Given the description of an element on the screen output the (x, y) to click on. 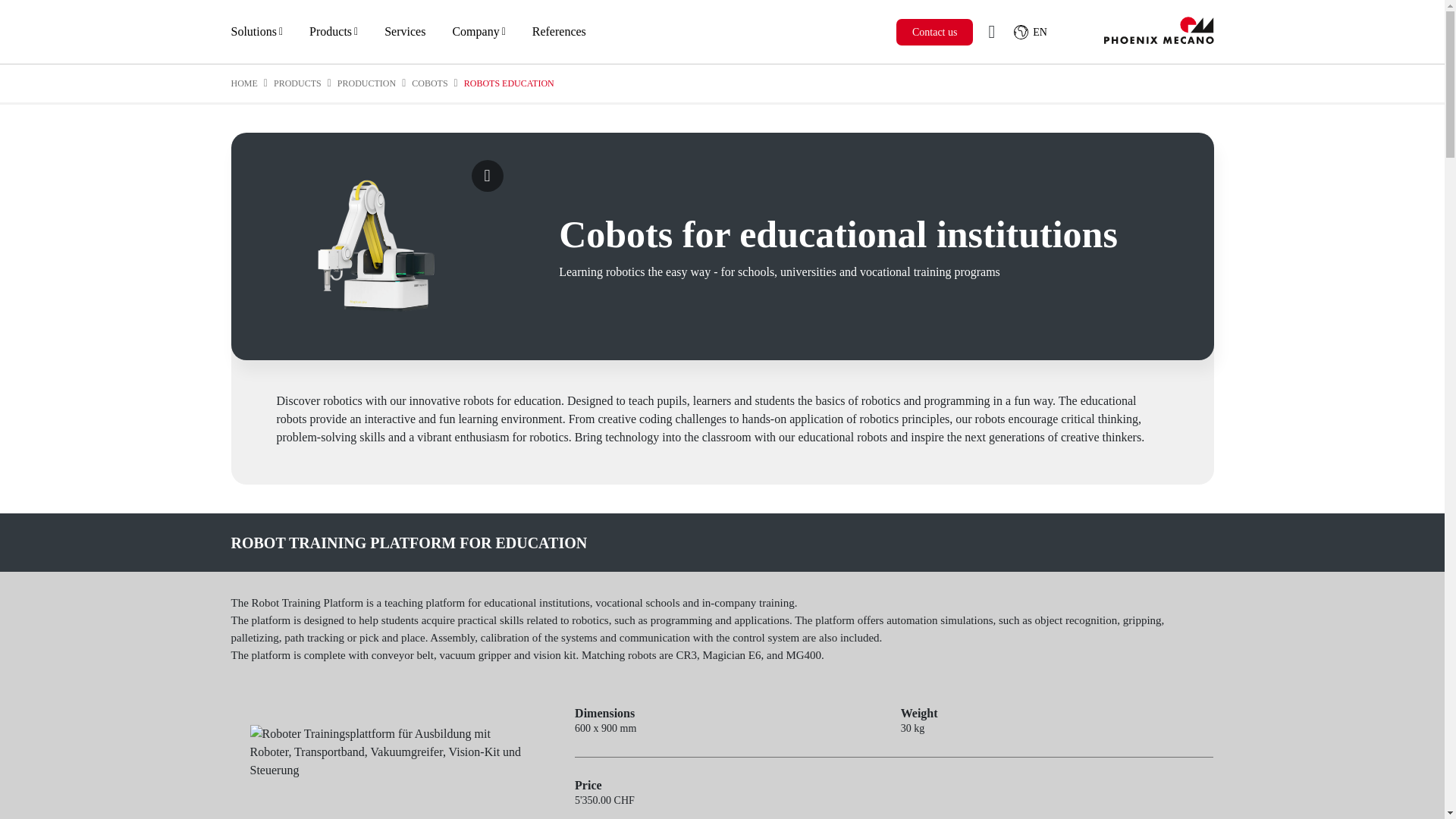
Products (333, 31)
Cobot Magician Lite (376, 246)
Solutions (256, 31)
